Given the description of an element on the screen output the (x, y) to click on. 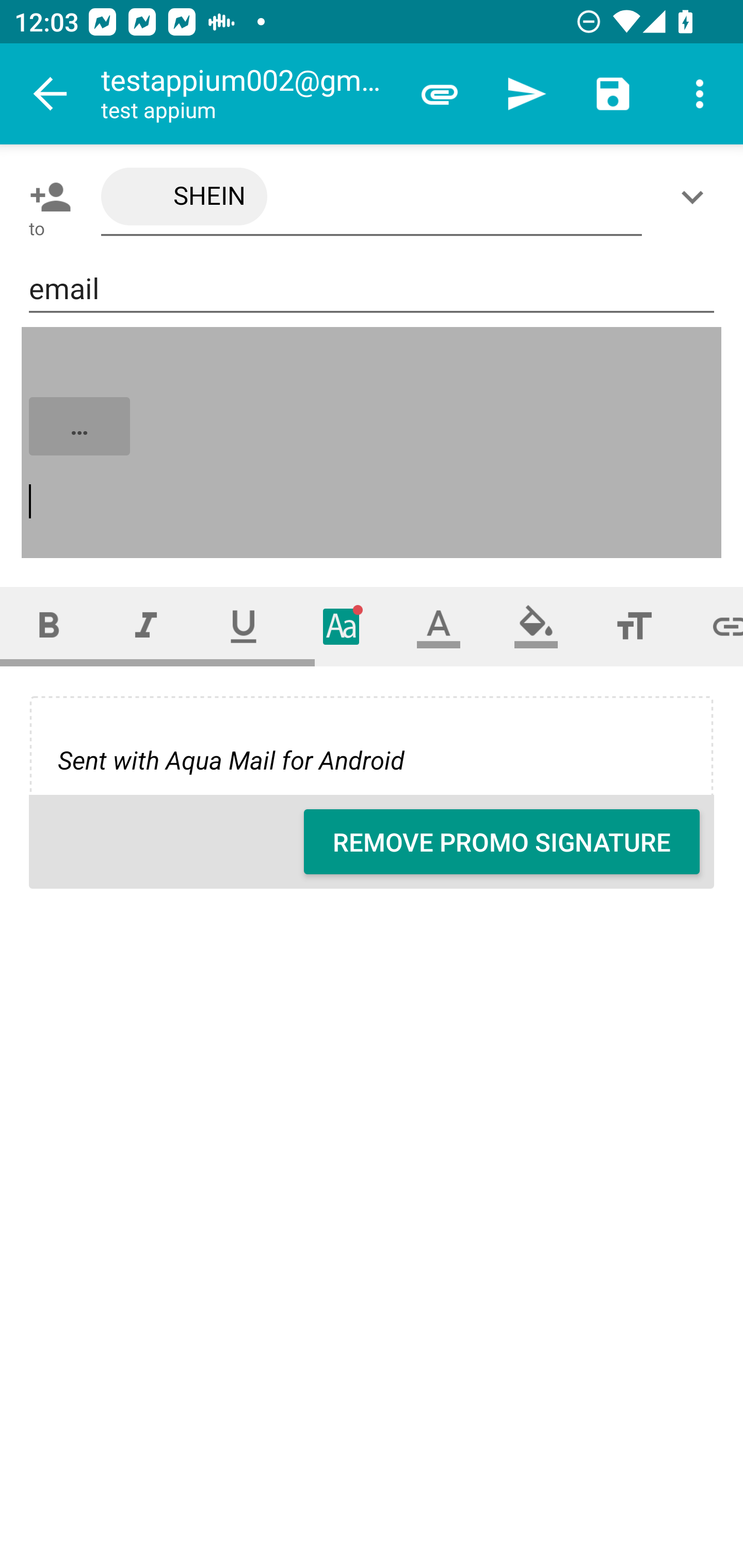
Navigate up (50, 93)
testappium002@gmail.com test appium (248, 93)
Attach (439, 93)
Send (525, 93)
Save (612, 93)
More options (699, 93)
SHEIN <info@news.us.shein.com>,  (371, 197)
Pick contact: To (46, 196)
Show/Add CC/BCC (696, 196)
email (371, 288)

…
 (372, 442)
Bold (48, 626)
Italic (145, 626)
Underline (243, 626)
Typeface (font) (341, 626)
Text color (438, 626)
Fill color (536, 626)
Font size (633, 626)
Set link (712, 626)
REMOVE PROMO SIGNATURE (501, 841)
